Given the description of an element on the screen output the (x, y) to click on. 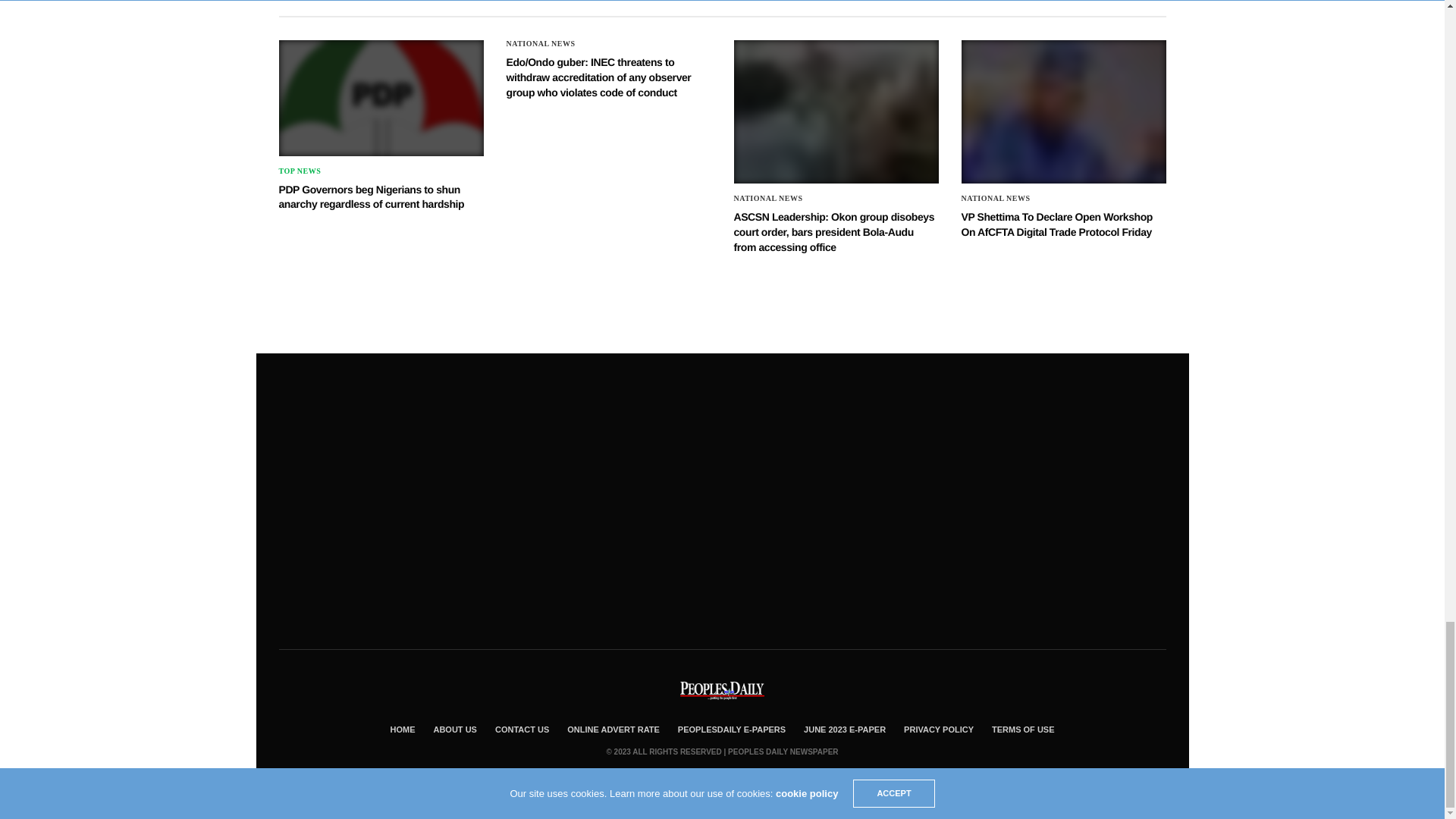
Top News (300, 171)
National News (540, 43)
